Given the description of an element on the screen output the (x, y) to click on. 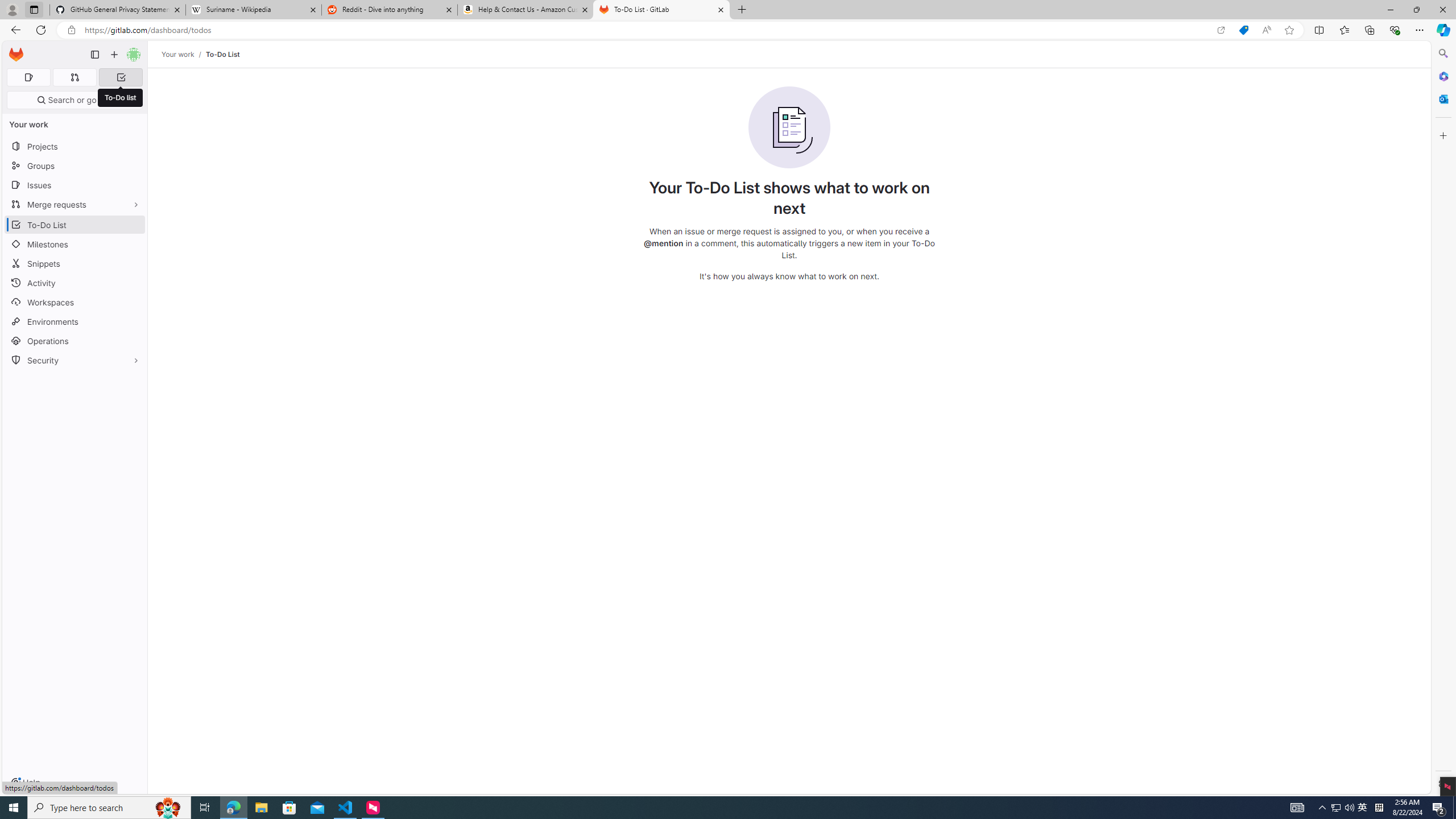
Merge requests 0 (74, 76)
To-Do List (222, 53)
Operations (74, 340)
Activity (74, 282)
Milestones (74, 244)
Your work (178, 53)
